Given the description of an element on the screen output the (x, y) to click on. 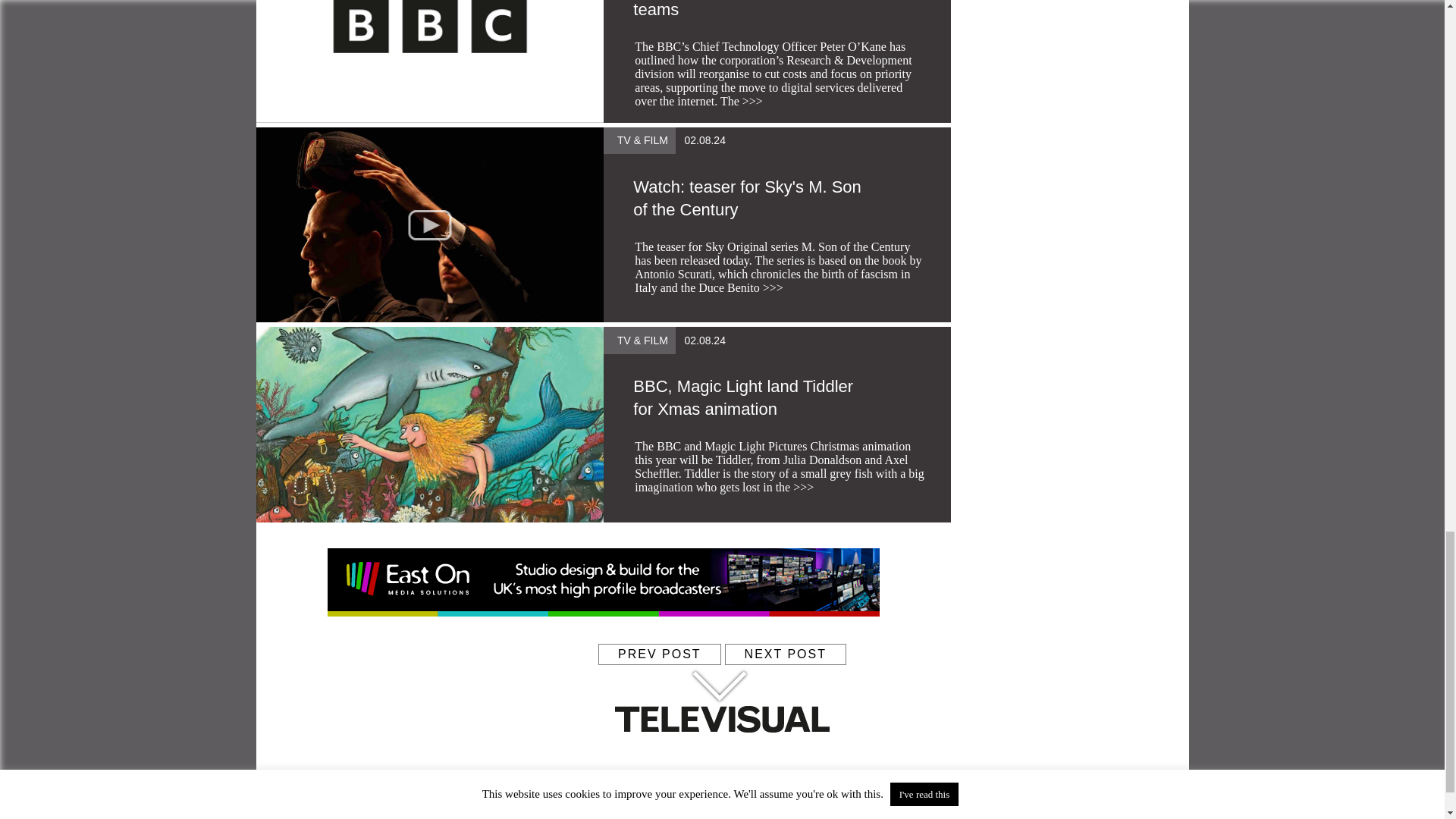
televisual-logo (721, 718)
